Given the description of an element on the screen output the (x, y) to click on. 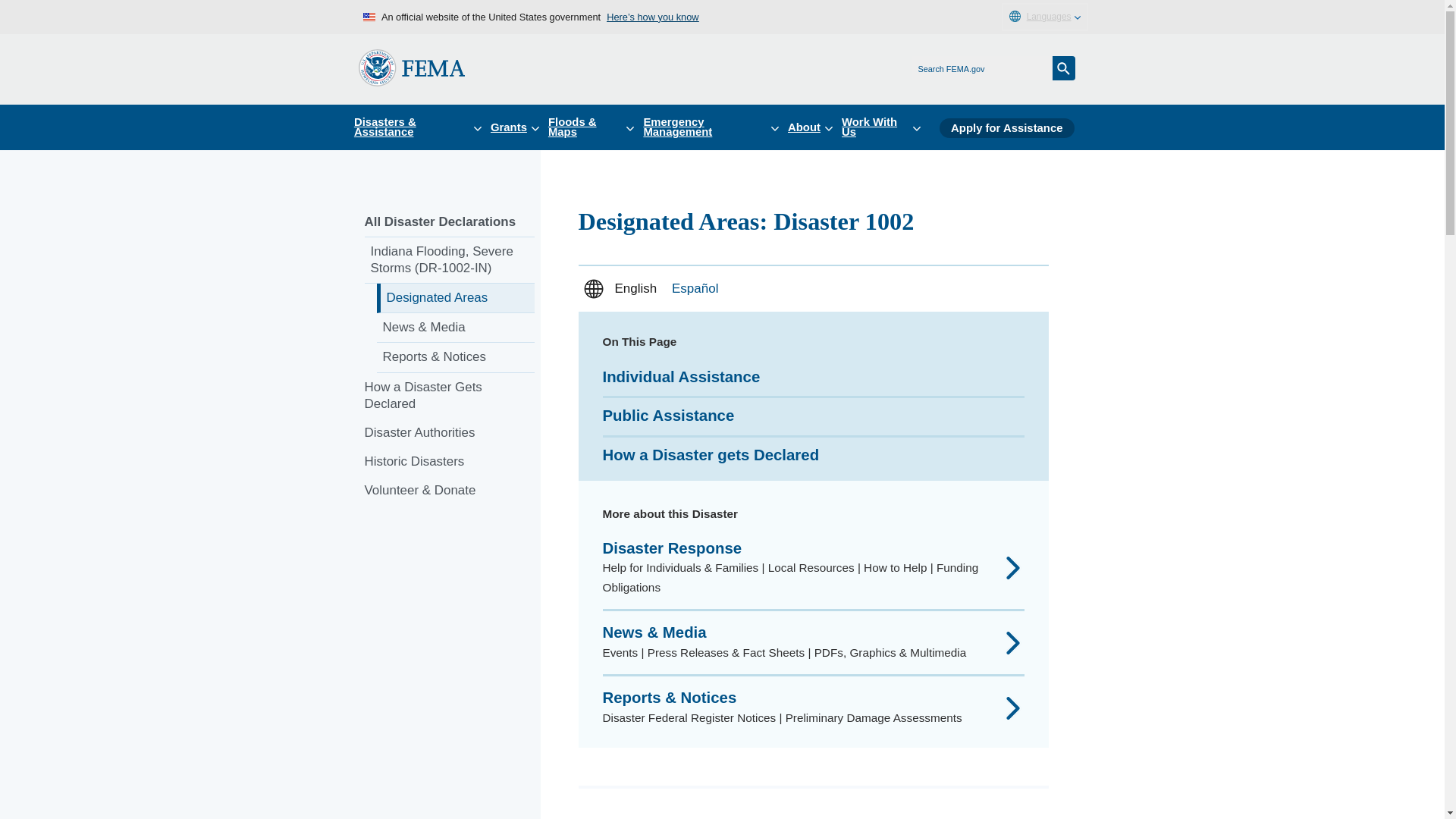
Apply for Assistance (1006, 127)
Skip to main content (16, 16)
Individual Assistance (681, 376)
How a Disaster gets Declared (710, 454)
Search FEMA.gov (1063, 68)
Search FEMA.gov (1063, 68)
Work With Us (885, 126)
Historic Disasters (449, 461)
Designated Areas (454, 297)
How a Disaster Gets Declared (449, 395)
Emergency Management (715, 126)
All Disaster Declarations (449, 222)
Disaster Authorities (449, 432)
About (814, 126)
Public Assistance (667, 415)
